Given the description of an element on the screen output the (x, y) to click on. 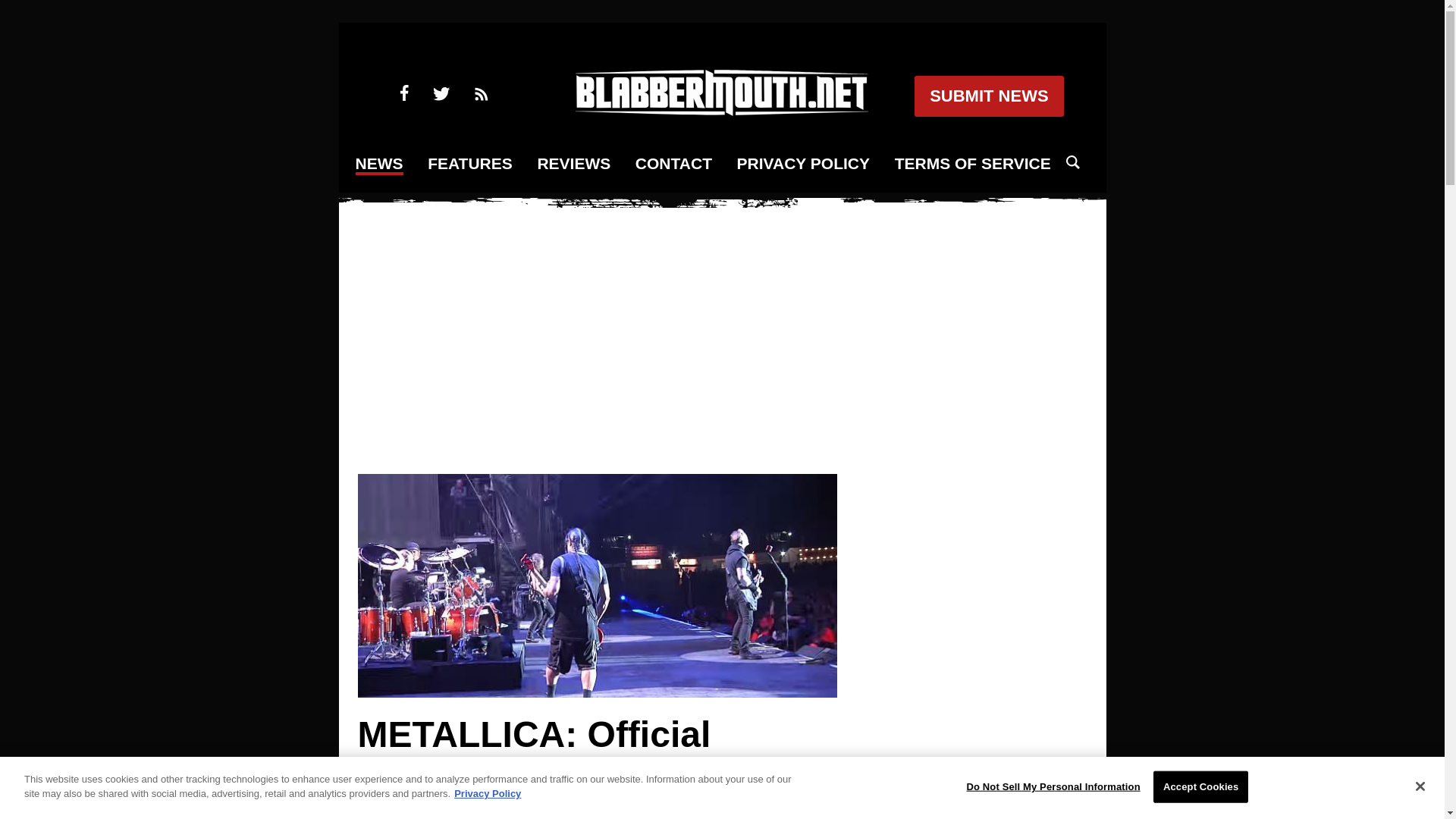
blabbermouth (721, 110)
search icon (1072, 161)
PRIVACY POLICY (802, 163)
REVIEWS (573, 163)
SUBMIT NEWS (988, 96)
FEATURES (470, 163)
TERMS OF SERVICE (973, 163)
CONTACT (672, 163)
NEWS (379, 164)
